Given the description of an element on the screen output the (x, y) to click on. 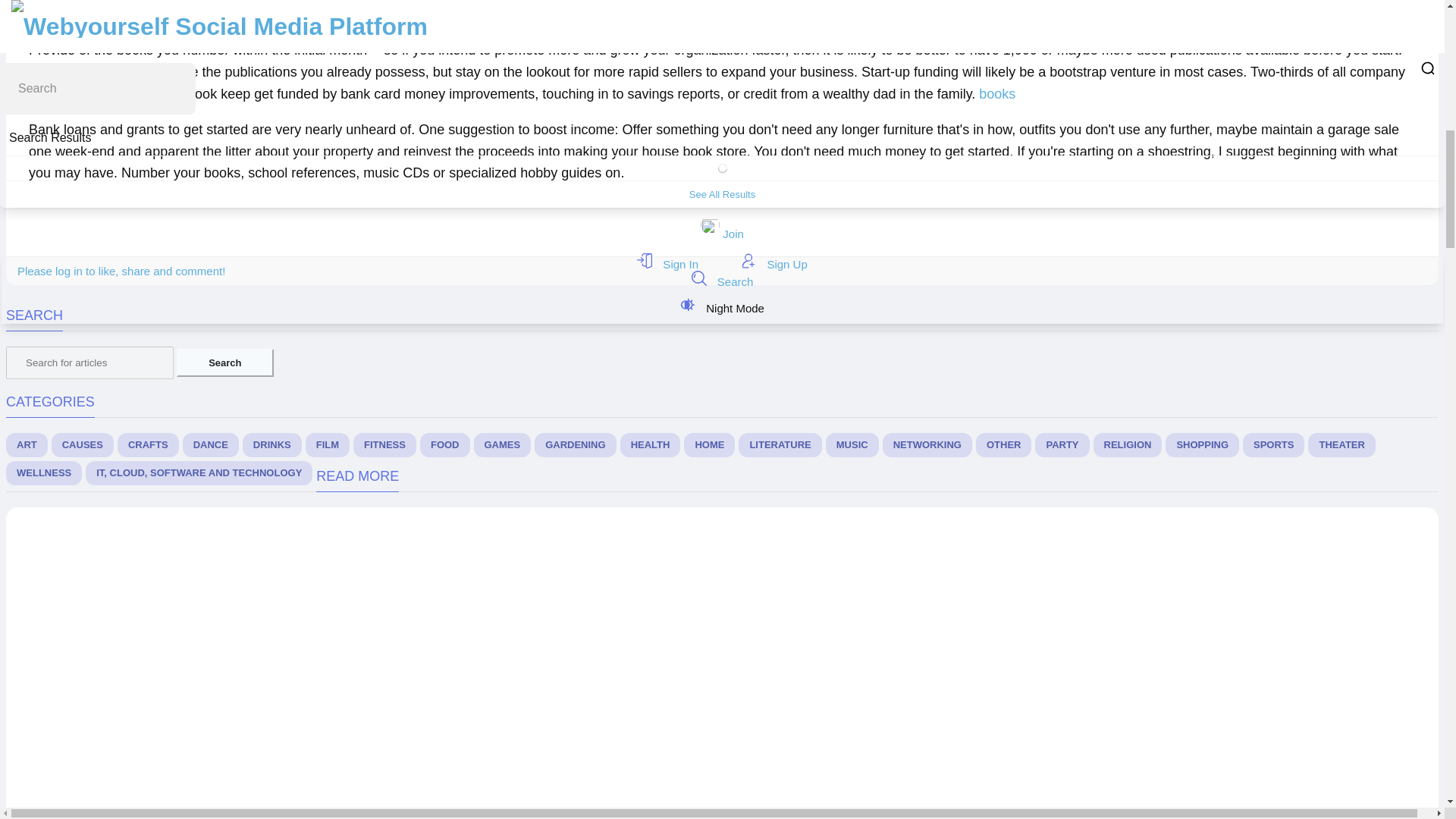
FOOD (445, 445)
CRAFTS (148, 445)
MUSIC (852, 445)
HOME (709, 445)
FITNESS (384, 445)
Please log in to like, share and comment! (121, 270)
books (996, 93)
GAMES (502, 445)
ART (26, 445)
DRINKS (272, 445)
Search (224, 362)
CAUSES (81, 445)
DANCE (210, 445)
LITERATURE (779, 445)
GARDENING (574, 445)
